Given the description of an element on the screen output the (x, y) to click on. 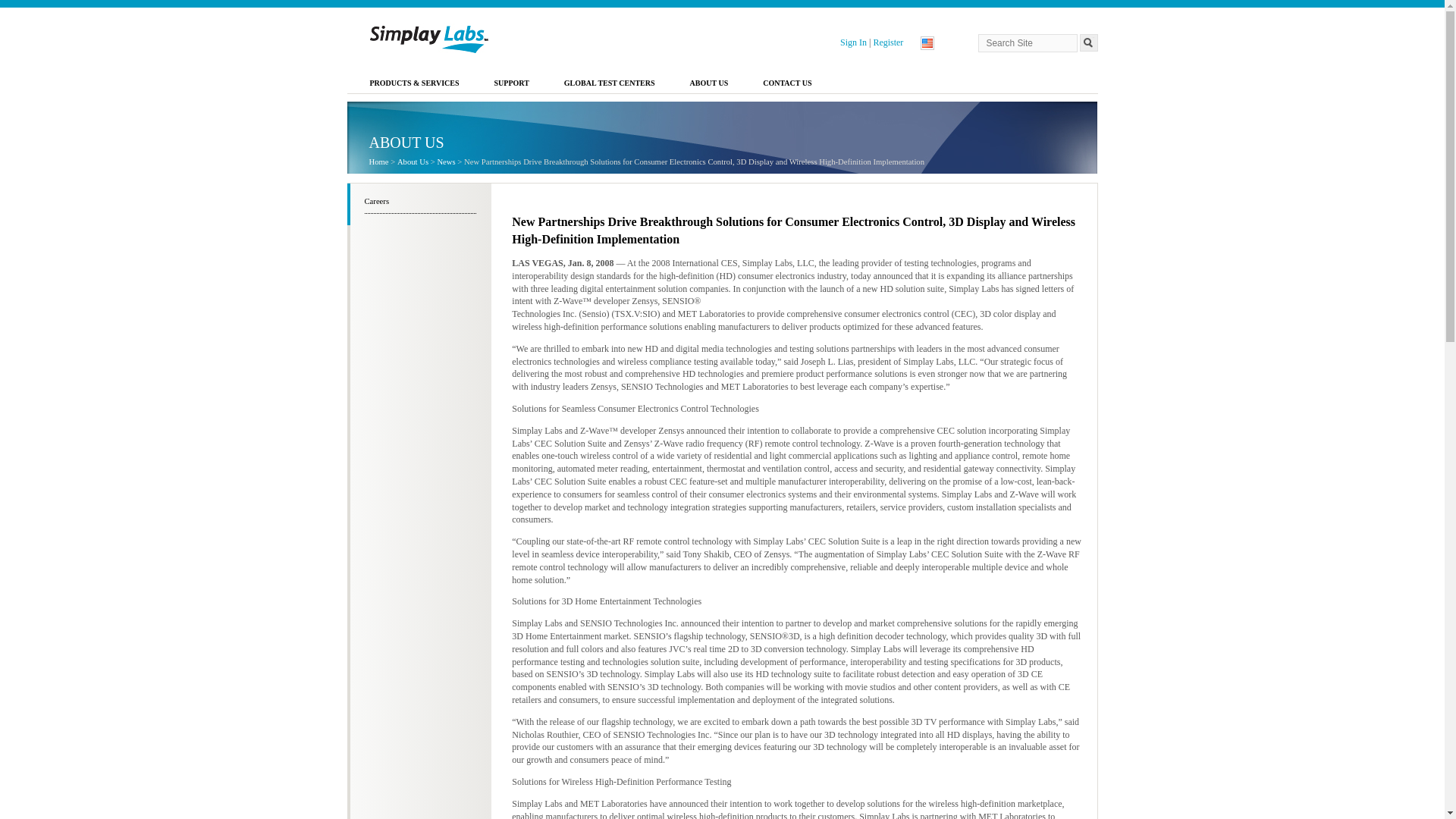
Register (887, 41)
ABOUT US (709, 84)
About Us (412, 162)
SUPPORT (512, 84)
Sign In (854, 41)
CONTACT US (786, 84)
Search (1088, 42)
Home (378, 162)
Careers (420, 201)
News (445, 162)
